Given the description of an element on the screen output the (x, y) to click on. 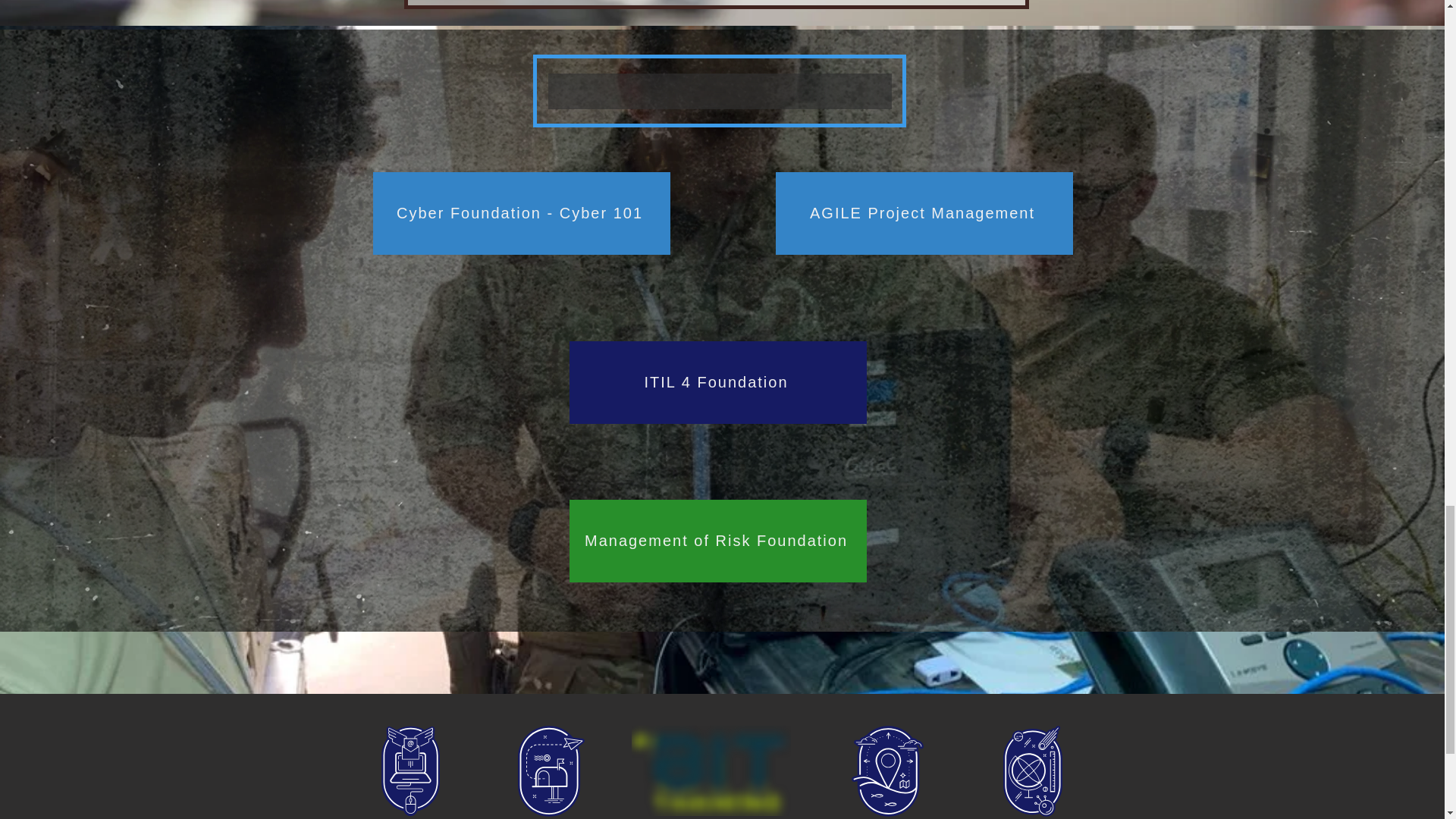
AGILE Project Management (922, 212)
ITIL 4 Foundation (717, 382)
Management of Risk Foundation (717, 540)
Cyber Foundation - Cyber 101 (520, 212)
